Given the description of an element on the screen output the (x, y) to click on. 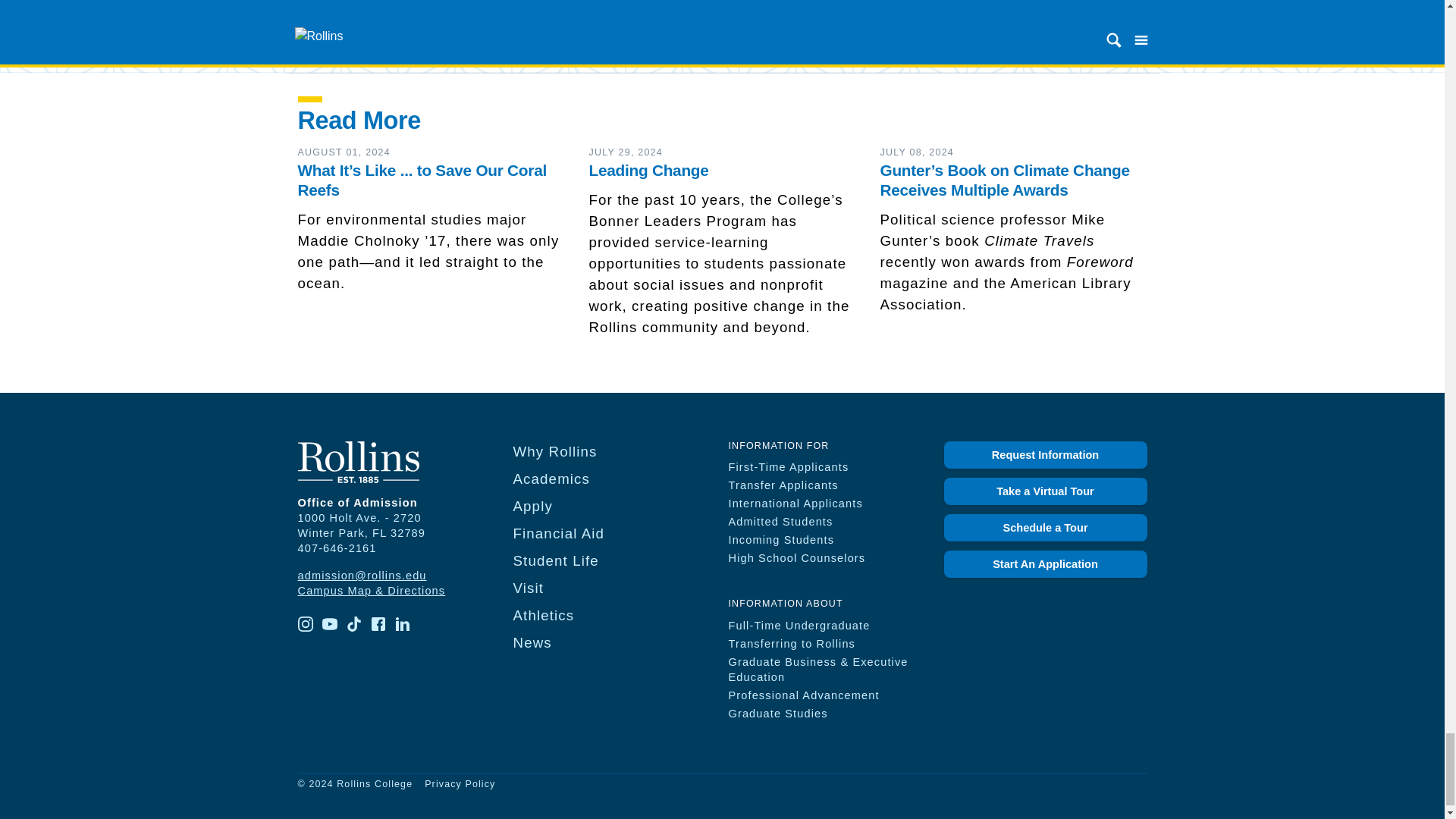
Apply (531, 505)
Athletics (542, 615)
News (531, 642)
Leading Change (647, 170)
Why Rollins (554, 451)
Visit (527, 587)
Academics (550, 478)
Student Life (555, 560)
First-Time Applicants (788, 467)
Transfer Applicants (783, 485)
Financial Aid (558, 533)
International Applicants (794, 503)
Admitted Students (780, 521)
